Given the description of an element on the screen output the (x, y) to click on. 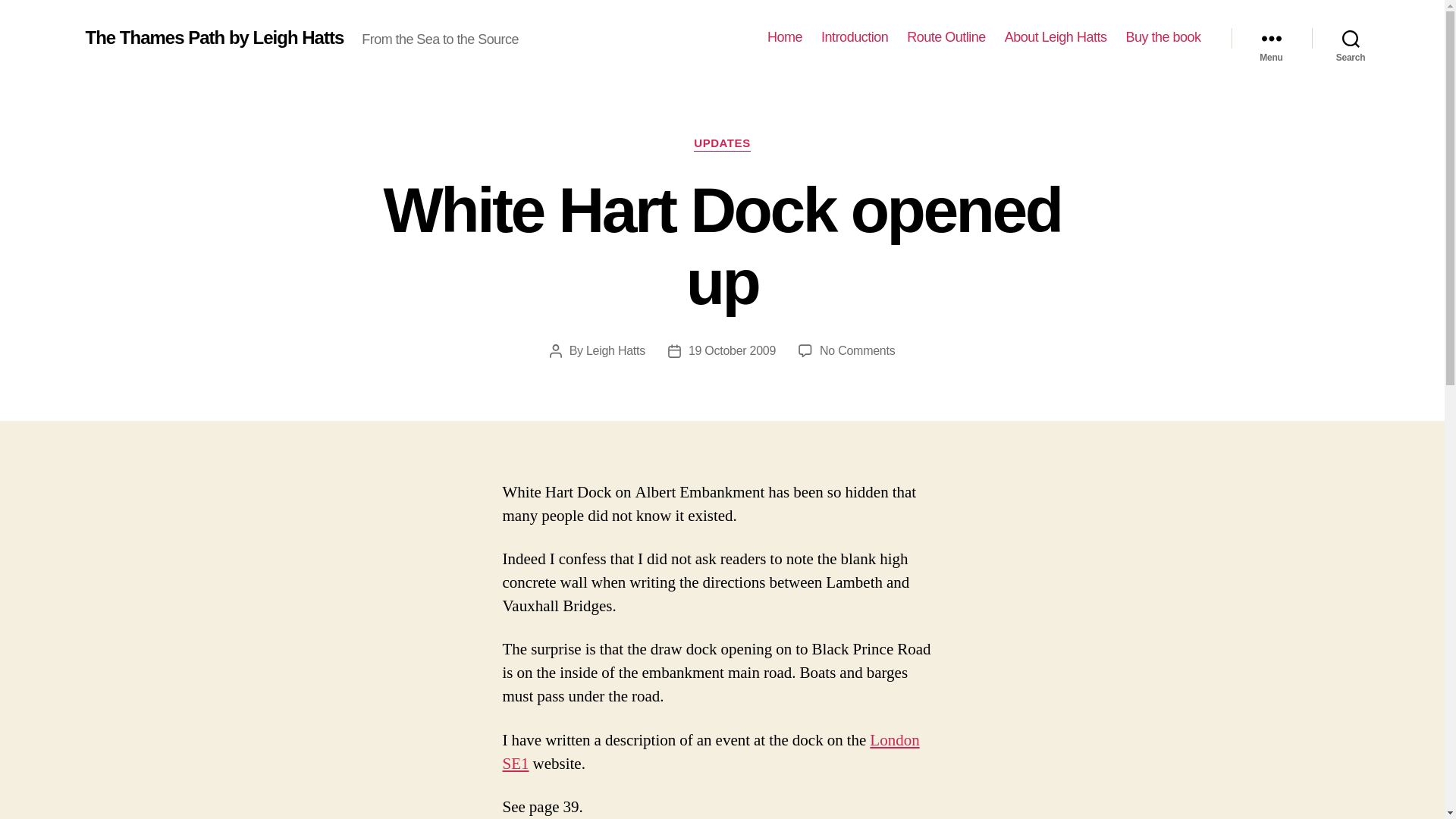
Home (784, 37)
Leigh Hatts (615, 350)
Route Outline (857, 350)
UPDATES (946, 37)
Introduction (721, 143)
Buy the book (854, 37)
19 October 2009 (1162, 37)
About Leigh Hatts (732, 350)
London SE1 (1055, 37)
Menu (710, 751)
The Thames Path by Leigh Hatts (1271, 37)
Search (213, 37)
